Given the description of an element on the screen output the (x, y) to click on. 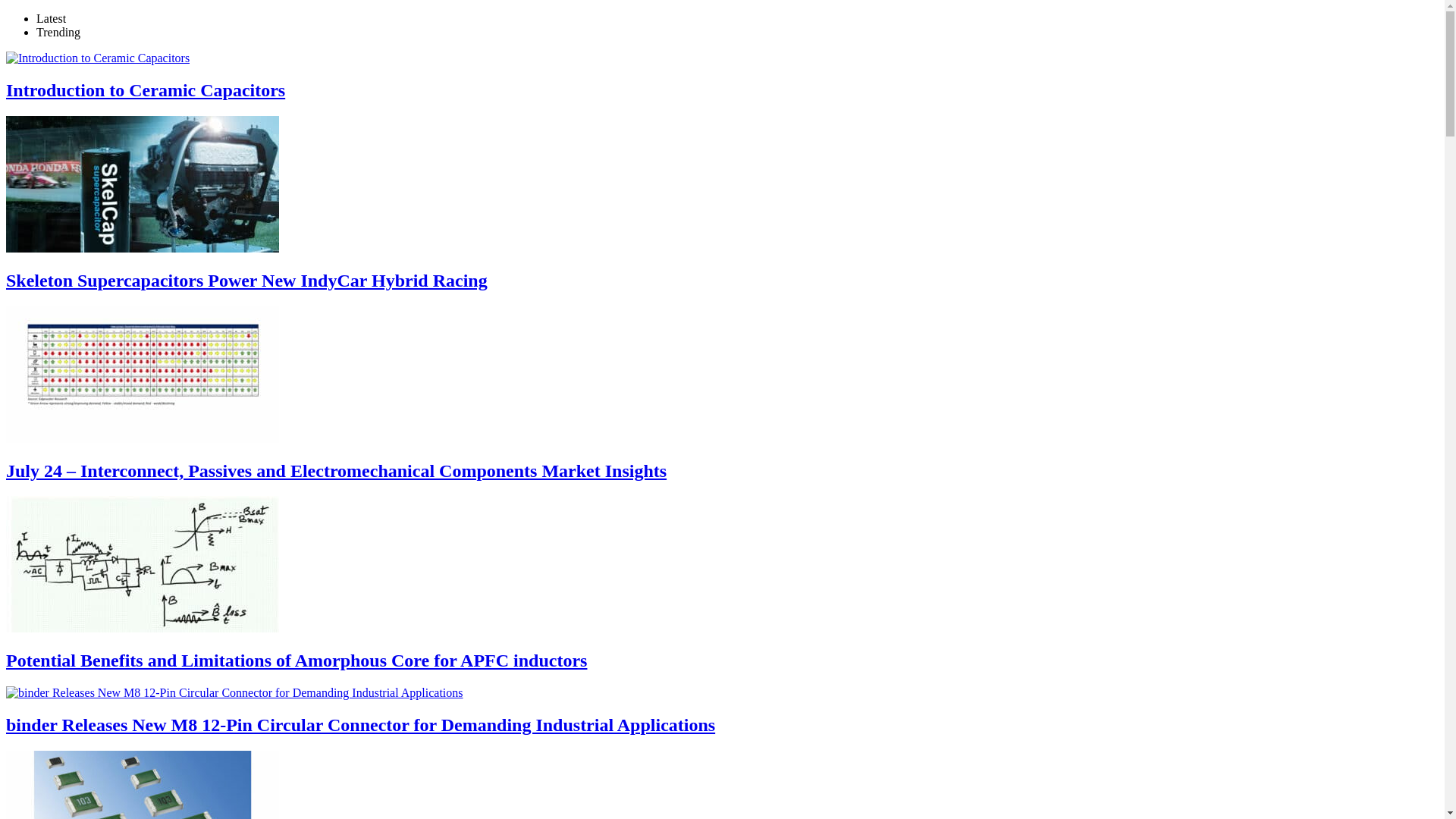
Introduction to Ceramic Capacitors (145, 89)
Skeleton Supercapacitors Power New IndyCar Hybrid Racing (246, 280)
Introduction to Ceramic Capacitors (97, 58)
